Given the description of an element on the screen output the (x, y) to click on. 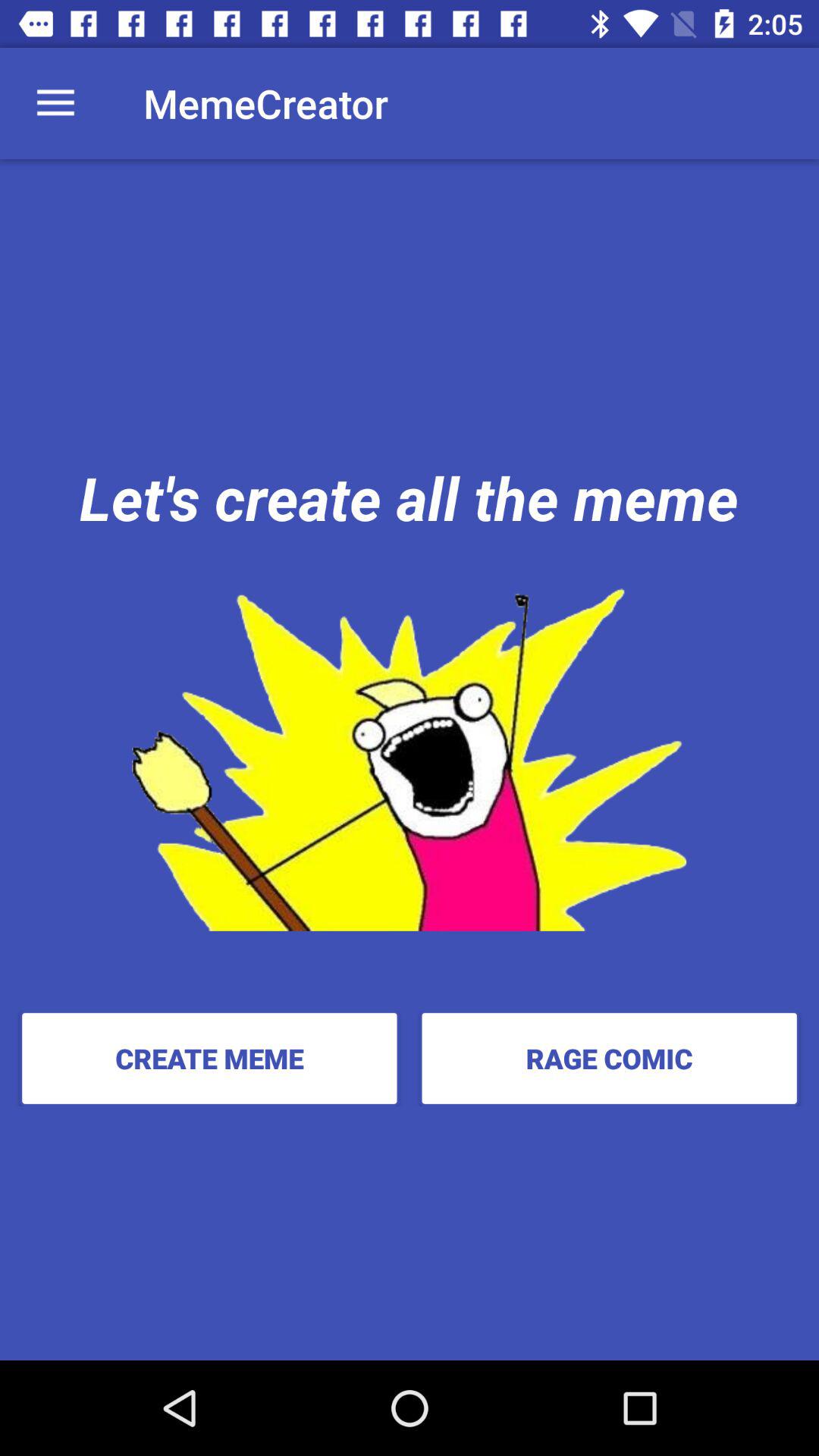
turn off the icon at the bottom right corner (609, 1058)
